Given the description of an element on the screen output the (x, y) to click on. 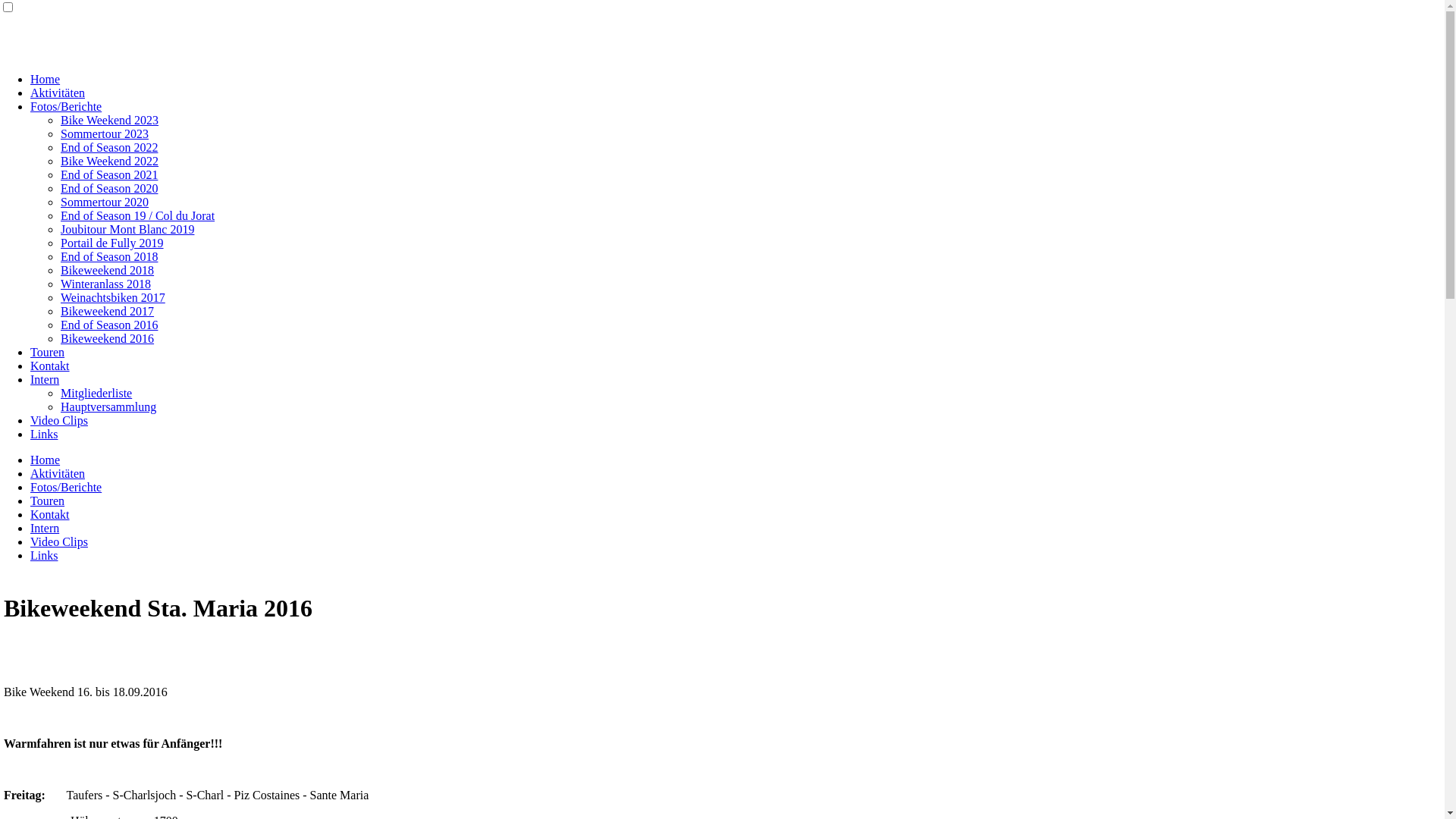
Sommertour 2020 Element type: text (104, 201)
End of Season 19 / Col du Jorat Element type: text (137, 215)
Home Element type: text (44, 459)
Bikeweekend 2018 Element type: text (106, 269)
End of Season 2022 Element type: text (108, 147)
Weinachtsbiken 2017 Element type: text (112, 297)
Kontakt Element type: text (49, 514)
Home Element type: text (44, 78)
Intern Element type: text (44, 527)
Video Clips Element type: text (58, 541)
Touren Element type: text (47, 500)
Kontakt Element type: text (49, 365)
End of Season 2018 Element type: text (108, 256)
End of Season 2020 Element type: text (108, 188)
Intern Element type: text (44, 379)
Winteranlass 2018 Element type: text (105, 283)
Links Element type: text (43, 555)
Fotos/Berichte Element type: text (65, 486)
Mitgliederliste Element type: text (95, 392)
Fotos/Berichte Element type: text (65, 106)
Joubitour Mont Blanc 2019 Element type: text (127, 228)
Hauptversammlung Element type: text (108, 406)
Bikeweekend 2016 Element type: text (106, 338)
Video Clips Element type: text (58, 420)
Touren Element type: text (47, 351)
Bike Weekend 2022 Element type: text (109, 160)
Links Element type: text (43, 433)
Sommertour 2023 Element type: text (104, 133)
Portail de Fully 2019 Element type: text (111, 242)
End of Season 2021 Element type: text (108, 174)
End of Season 2016 Element type: text (108, 324)
Bikeweekend 2017 Element type: text (106, 310)
Bike Weekend 2023 Element type: text (109, 119)
